Given the description of an element on the screen output the (x, y) to click on. 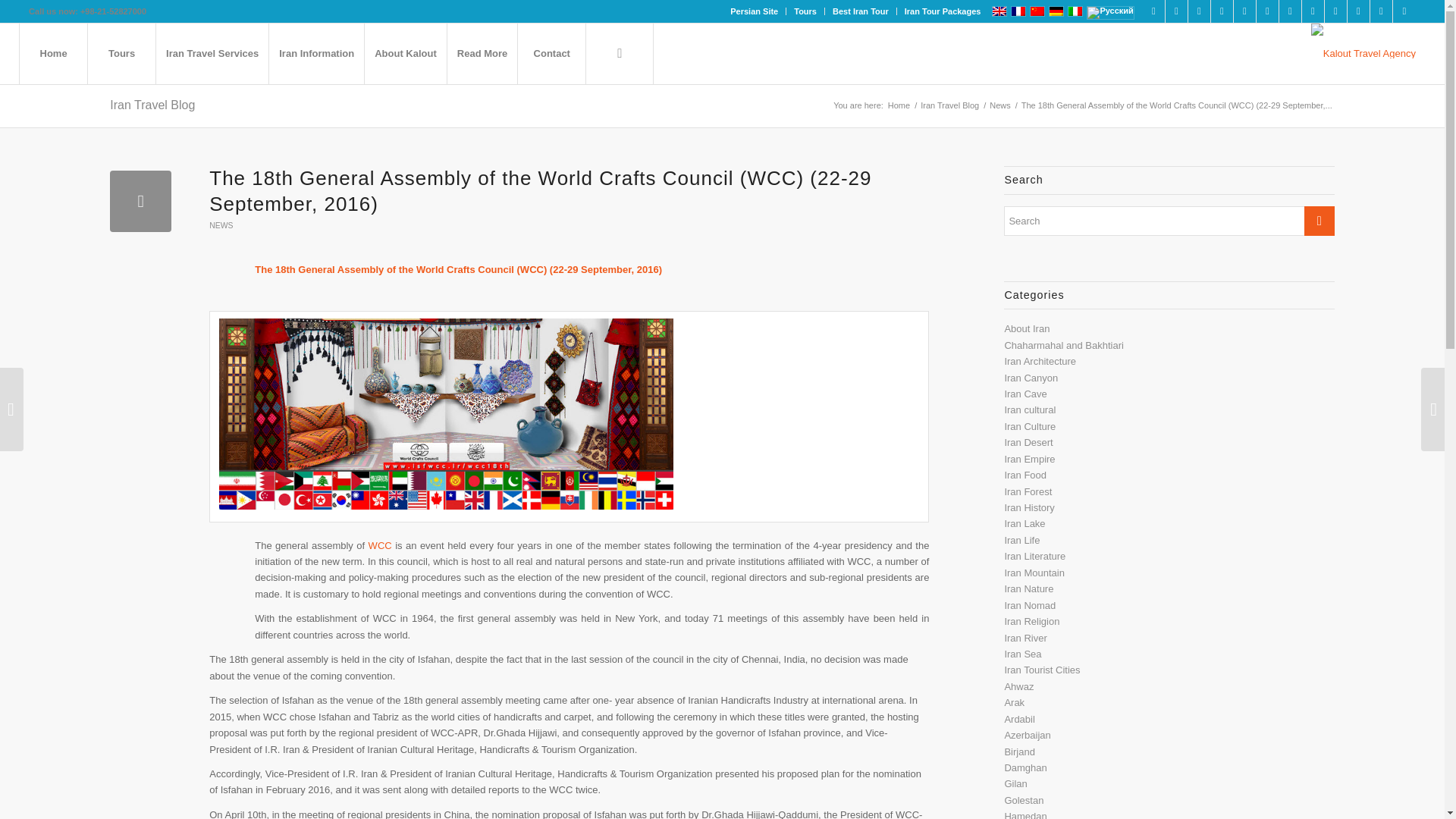
LinkedIn (1177, 11)
Tours (804, 11)
Behance (1335, 11)
Instagram (1222, 11)
English (999, 10)
Youtube (1267, 11)
Vk (1380, 11)
Skype (1290, 11)
Mail (1404, 11)
Italiano (1075, 10)
Deutsch (1056, 10)
Mail (1359, 11)
Pinterest (1244, 11)
Persian Site (753, 11)
Tours (121, 53)
